Given the description of an element on the screen output the (x, y) to click on. 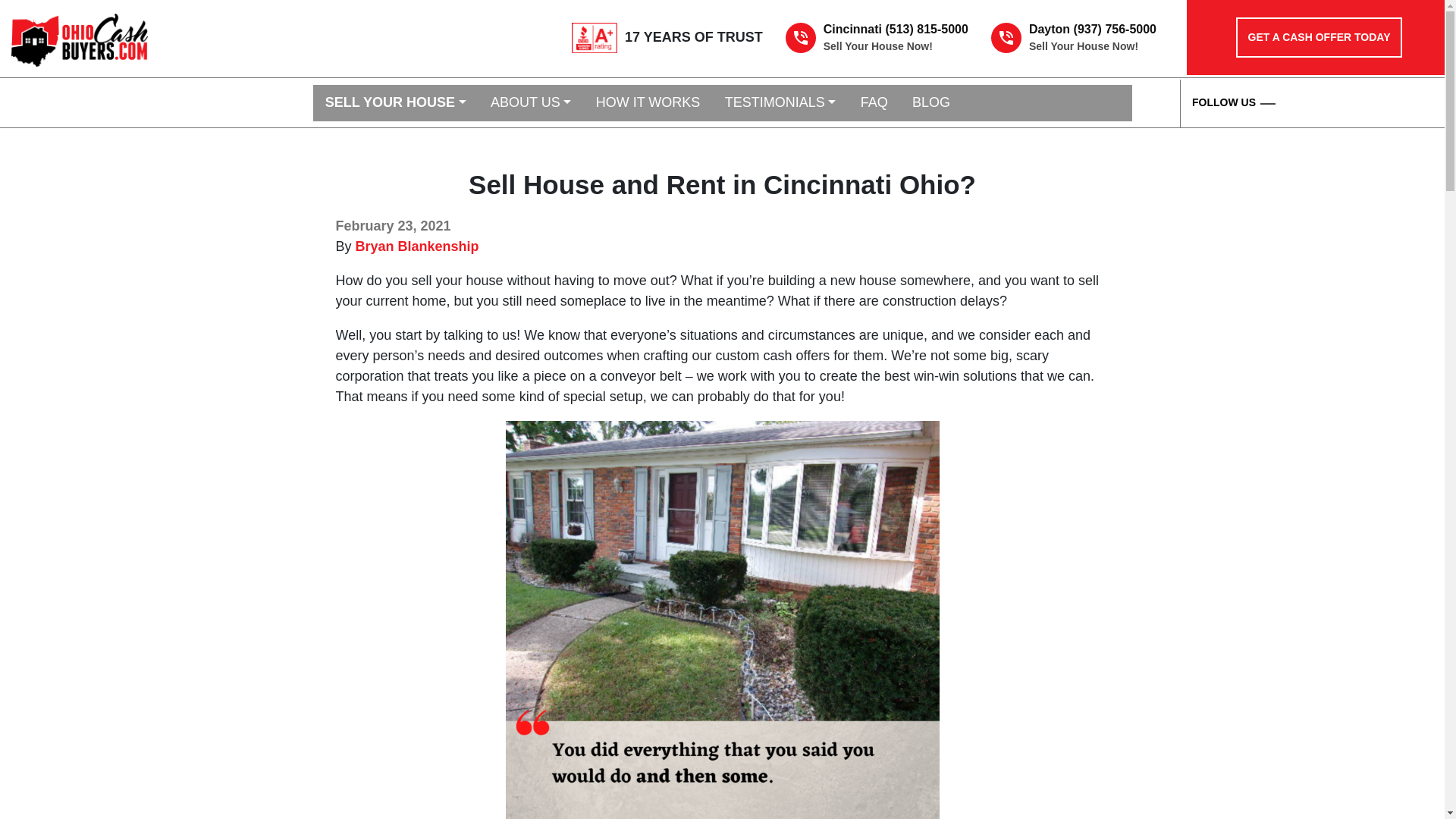
ABOUT US (531, 103)
Sell Your House (395, 103)
HOW IT WORKS (647, 103)
FAQ (873, 103)
Blog (930, 103)
TESTIMONIALS (780, 103)
How It Works (647, 103)
LinkedIn (1398, 104)
About us (531, 103)
Testimonials (780, 103)
